Given the description of an element on the screen output the (x, y) to click on. 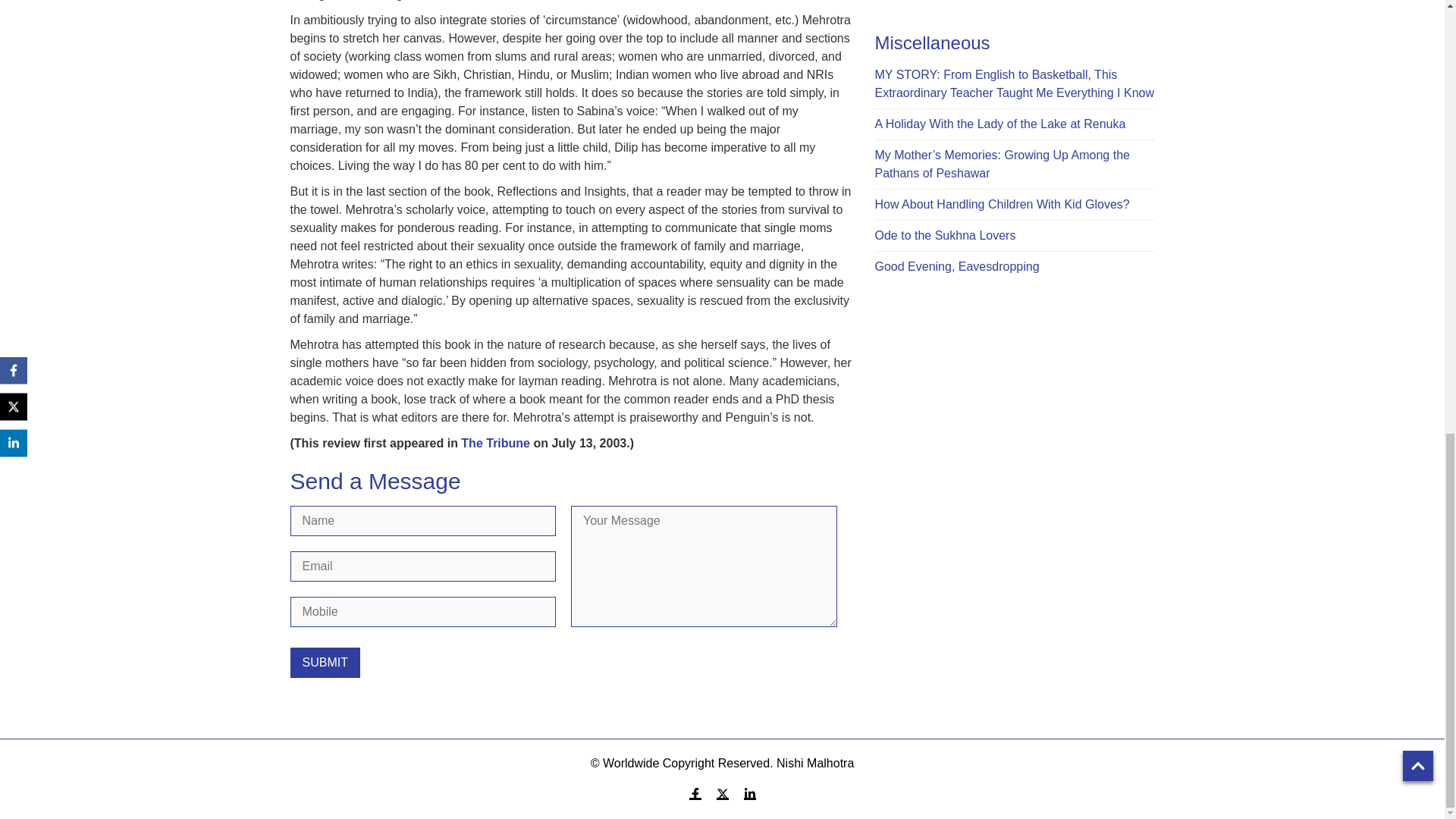
Miscellaneous (932, 42)
The Tribune (495, 442)
Submit (324, 662)
Ode to the Sukhna Lovers (945, 235)
A Holiday With the Lady of the Lake at Renuka (1000, 123)
How About Handling Children With Kid Gloves? (1002, 204)
Submit (324, 662)
